Given the description of an element on the screen output the (x, y) to click on. 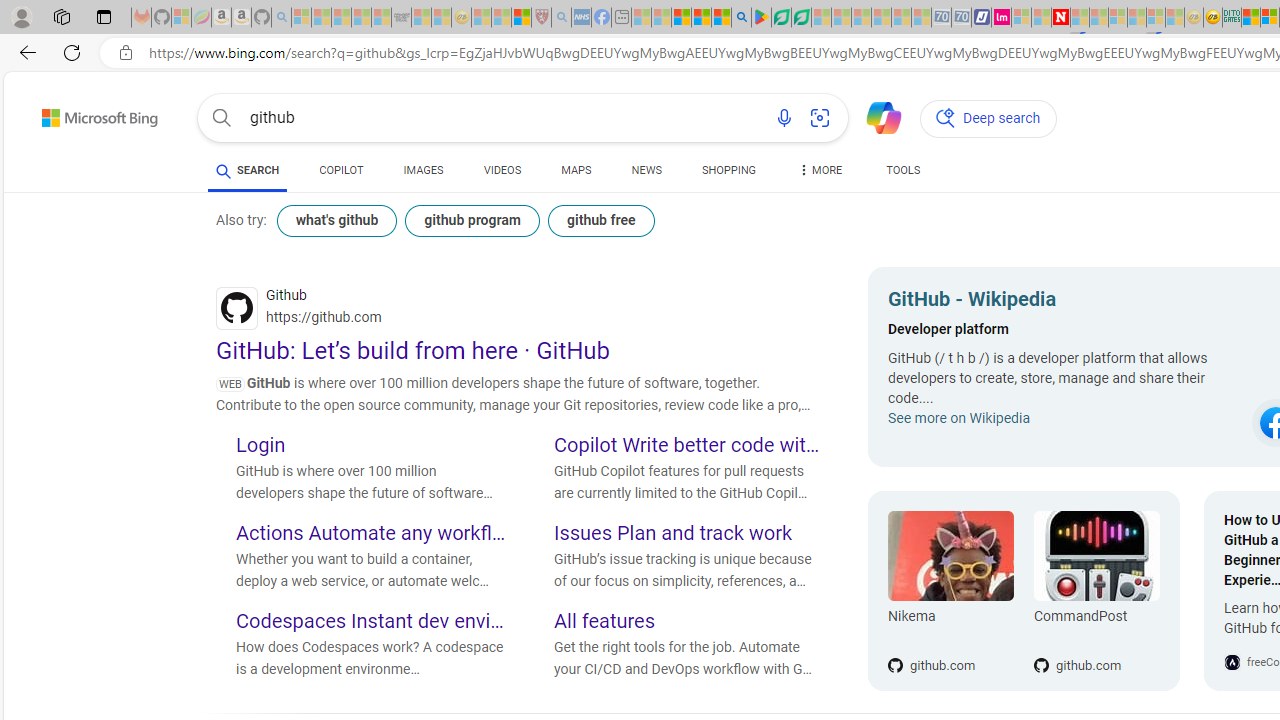
Recipes - MSN - Sleeping (481, 17)
Terms of Use Agreement (781, 17)
Global Web Icon (1232, 662)
MAPS (576, 170)
Github (520, 308)
github free (600, 220)
Nikema (950, 556)
Chat (875, 116)
Codespaces Instant dev environments (370, 623)
